Given the description of an element on the screen output the (x, y) to click on. 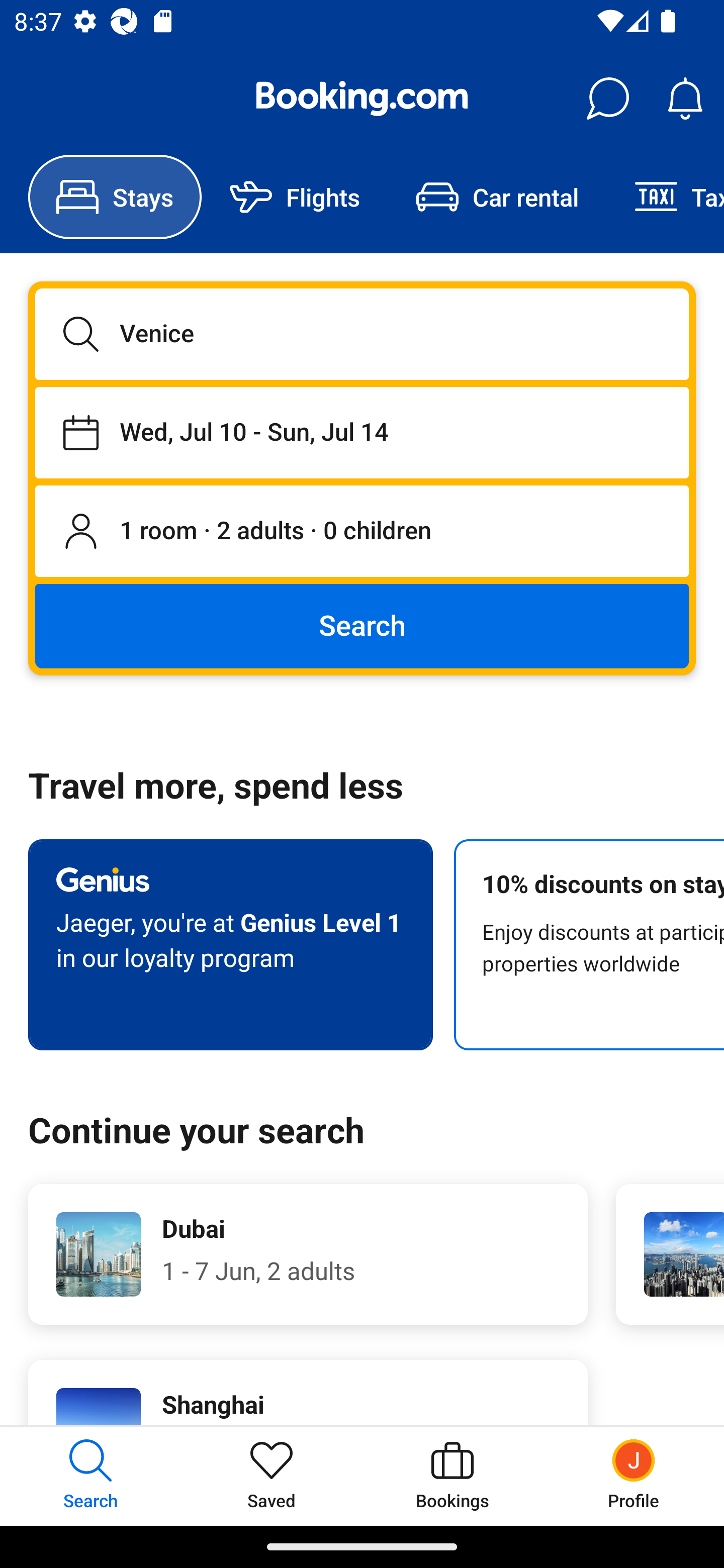
Messages (607, 98)
Notifications (685, 98)
Stays (114, 197)
Flights (294, 197)
Car rental (497, 197)
Taxi (665, 197)
Venice (361, 333)
Staying from Wed, Jul 10 until Sun, Jul 14 (361, 432)
1 room, 2 adults, 0 children (361, 531)
Search (361, 625)
Dubai 1 - 7 Jun, 2 adults (307, 1253)
Saved (271, 1475)
Bookings (452, 1475)
Profile (633, 1475)
